Given the description of an element on the screen output the (x, y) to click on. 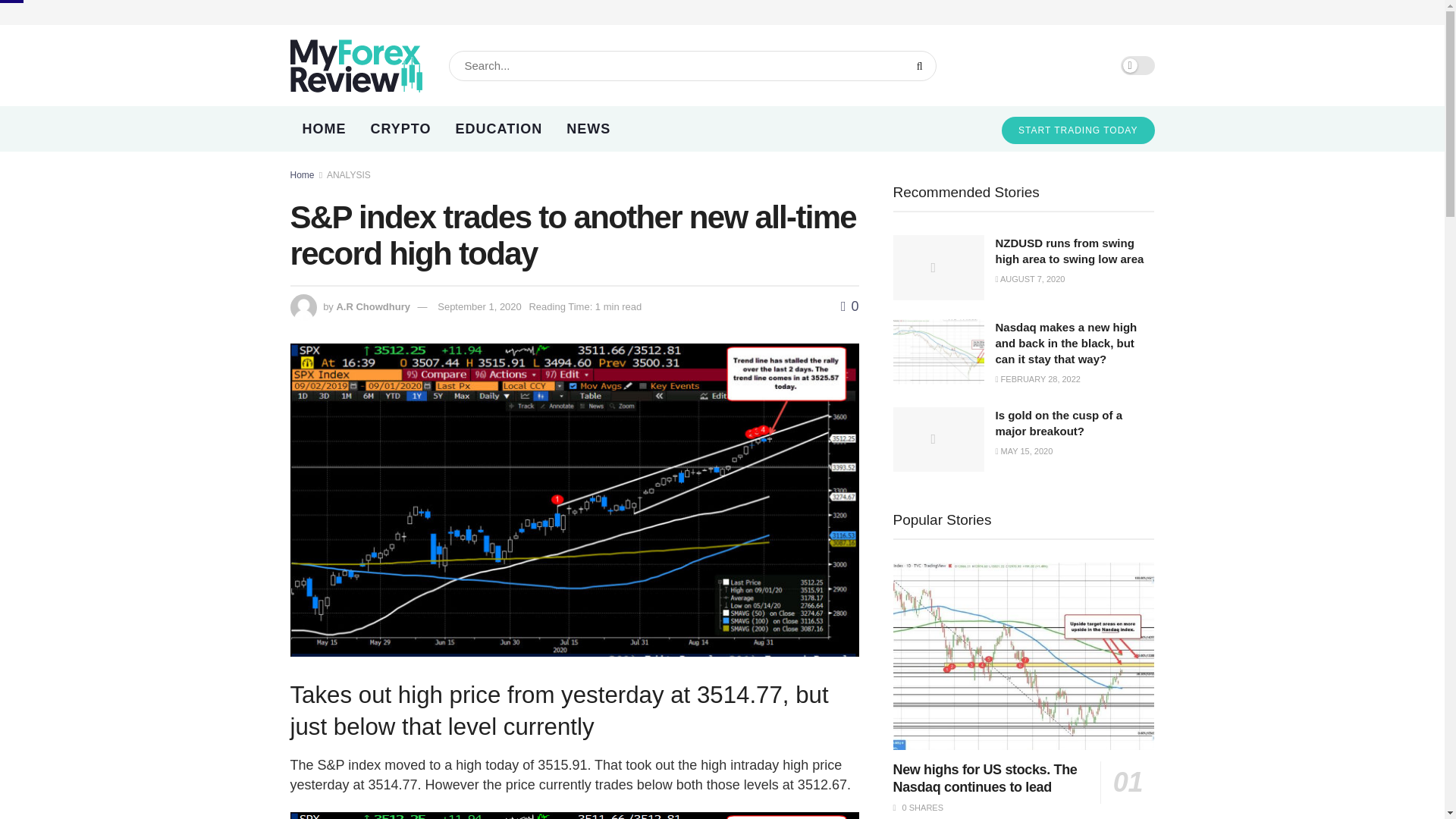
EDUCATION (499, 128)
CRYPTO (400, 128)
NEWS (588, 128)
Home (301, 174)
September 1, 2020 (479, 306)
0 (850, 305)
A.R Chowdhury (373, 306)
ANALYSIS (348, 174)
HOME (323, 128)
START TRADING TODAY (1077, 130)
